Given the description of an element on the screen output the (x, y) to click on. 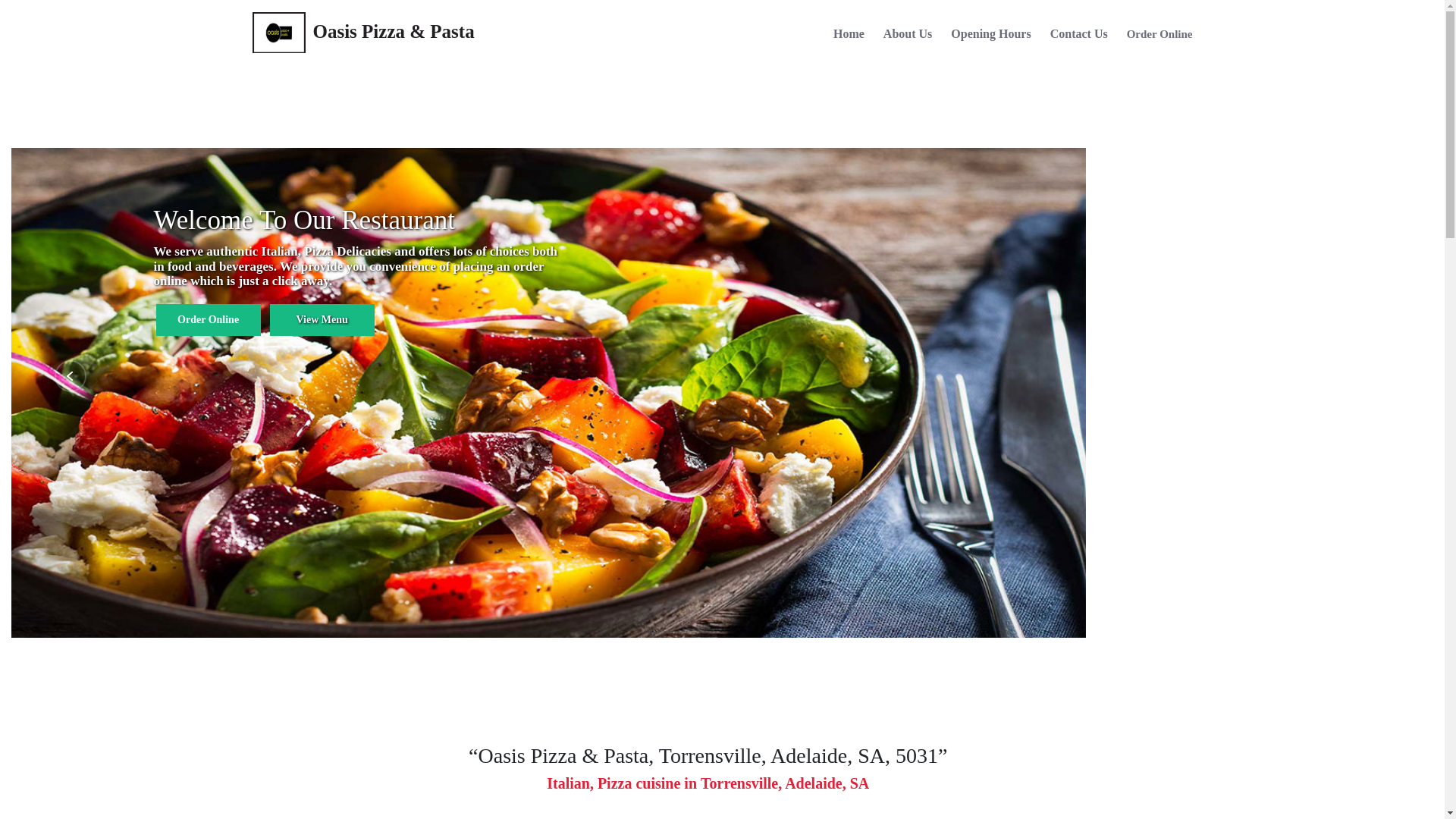
Contact Us Element type: text (1078, 36)
Order Online Element type: text (208, 319)
Home Element type: text (848, 36)
About Us Element type: text (907, 36)
View Menu Element type: text (321, 319)
Order Online Element type: text (1159, 37)
Opening Hours Element type: text (990, 36)
